Given the description of an element on the screen output the (x, y) to click on. 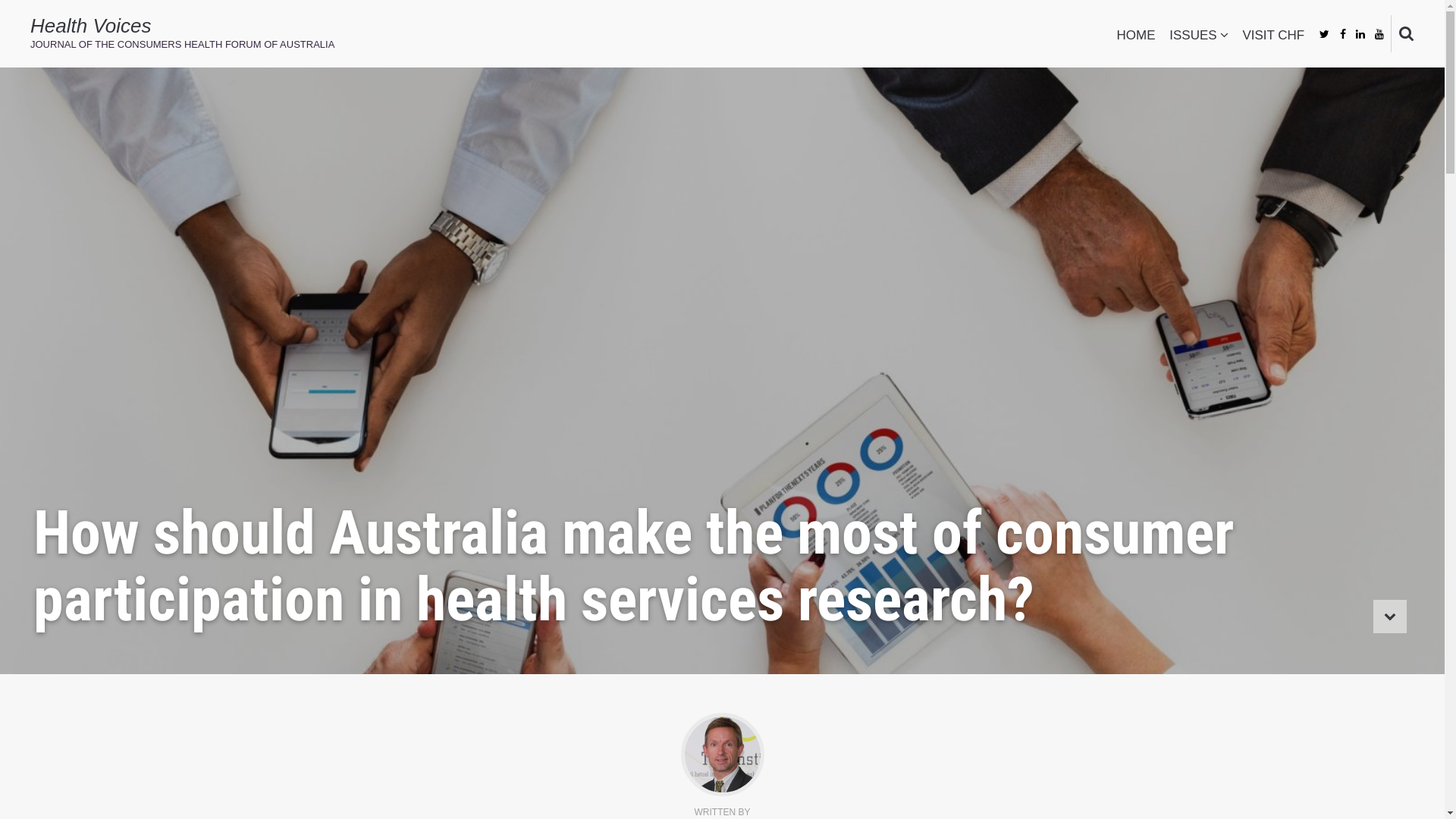
Health Voices Element type: text (90, 25)
HOME Element type: text (1136, 43)
ISSUES Element type: text (1198, 43)
VISIT CHF Element type: text (1272, 43)
Search Element type: text (46, 20)
Move down Element type: hover (1389, 616)
